Given the description of an element on the screen output the (x, y) to click on. 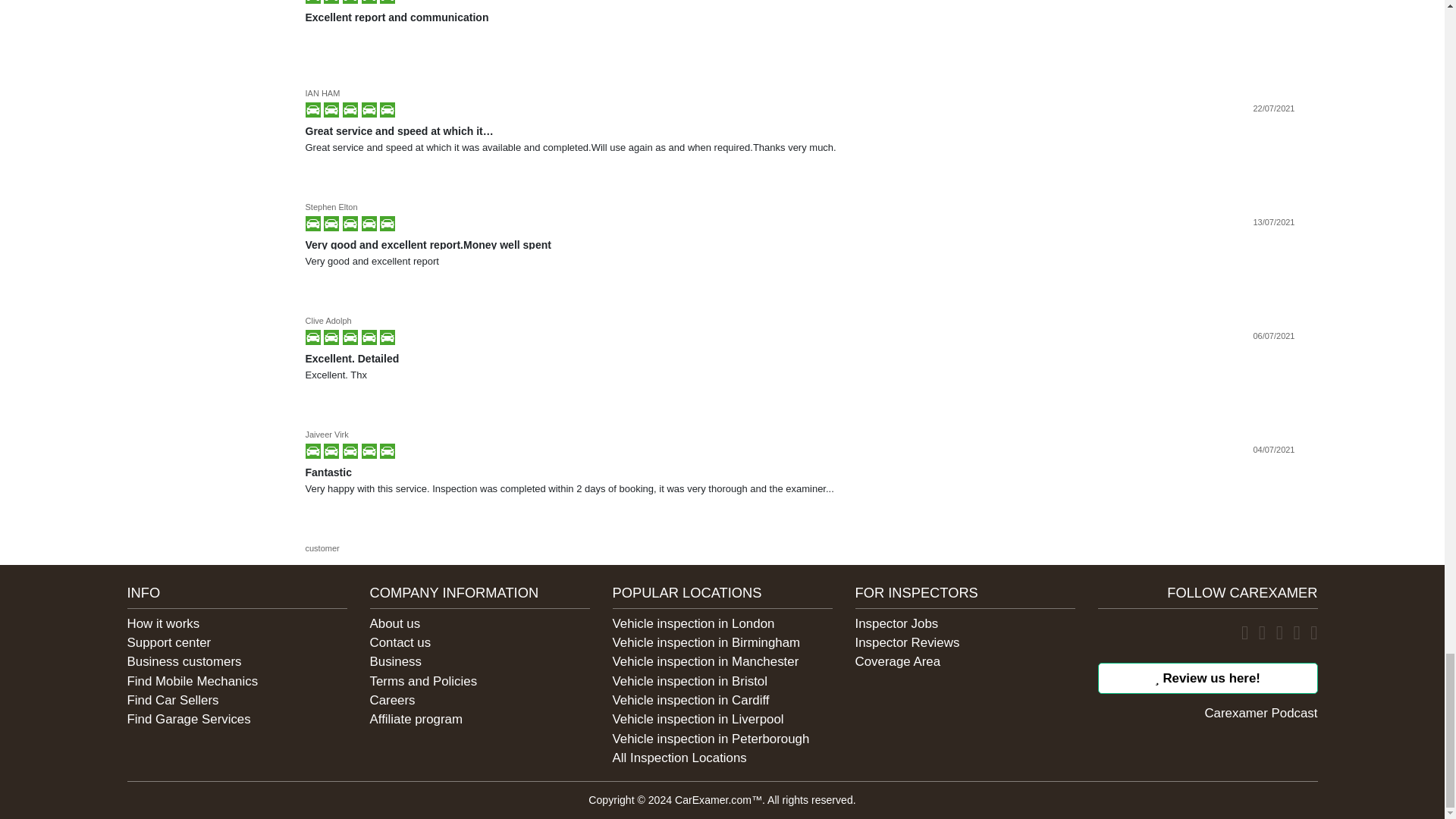
Find Mobile Mechanics (193, 681)
Find Car Sellers (173, 699)
Business customers (184, 661)
How it works (164, 623)
Contact us (399, 642)
Support center (169, 642)
Find Garage Services (189, 718)
About us (394, 623)
